Given the description of an element on the screen output the (x, y) to click on. 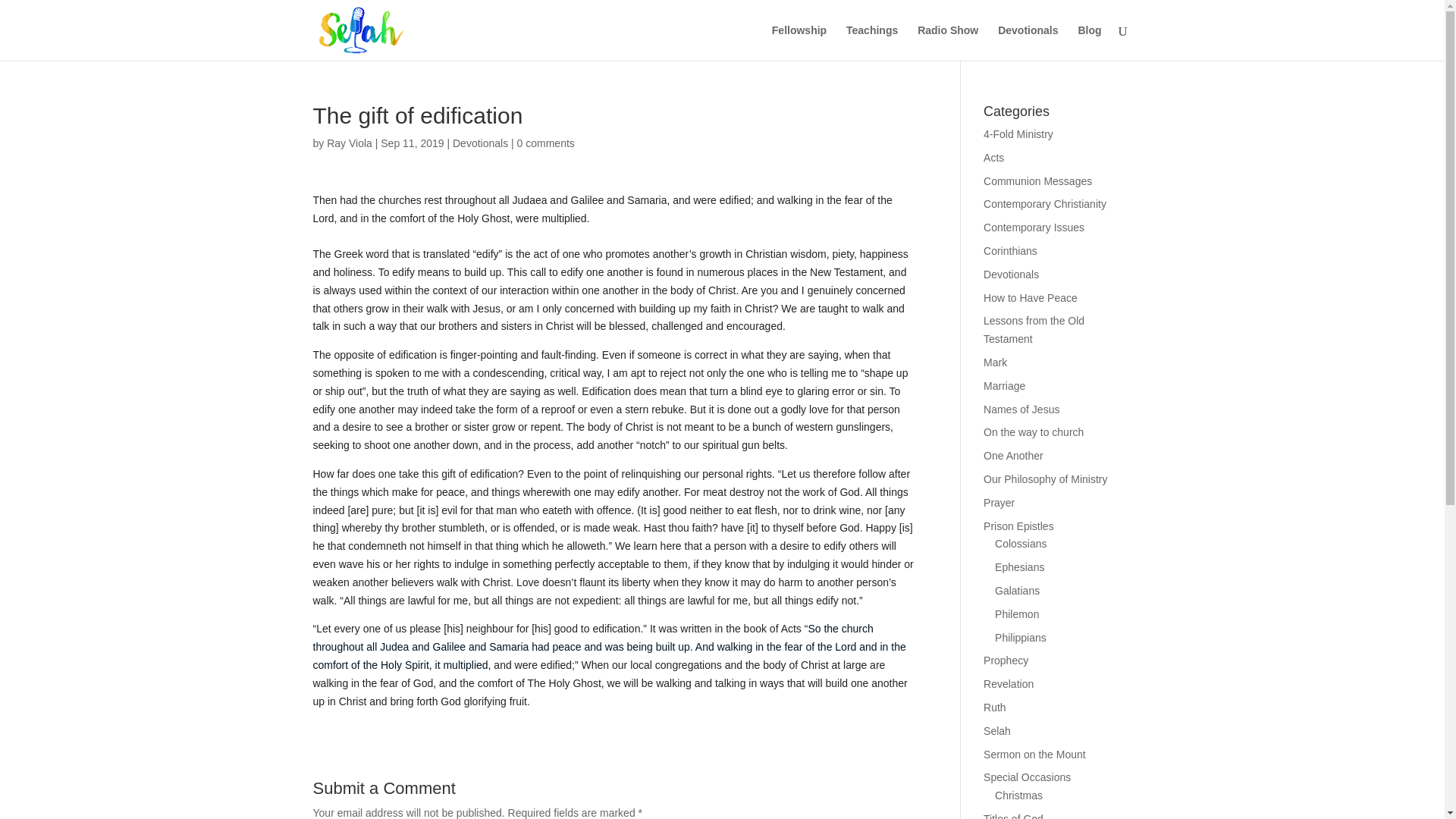
4-Fold Ministry (1018, 133)
Ray Viola (349, 143)
Devotionals (1027, 42)
Corinthians (1010, 250)
Radio Show (947, 42)
Names of Jesus (1021, 409)
Lessons from the Old Testament (1034, 329)
On the way to church (1033, 431)
Contemporary Issues (1034, 227)
Philippians (1020, 637)
Ephesians (1018, 567)
Posts by Ray Viola (349, 143)
Prophecy (1005, 660)
One Another (1013, 455)
Colossians (1020, 543)
